Given the description of an element on the screen output the (x, y) to click on. 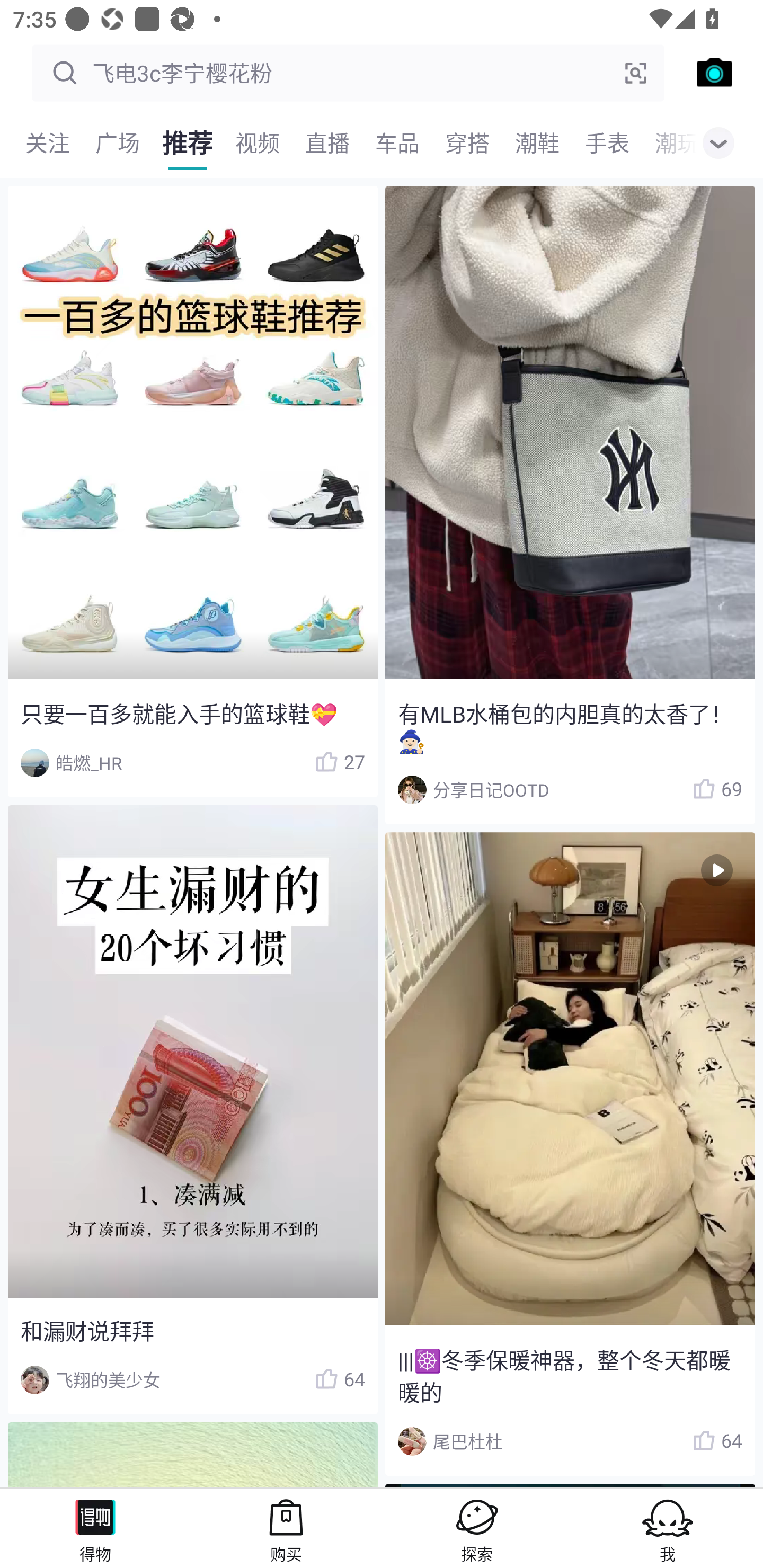
飞电3c李宁樱花粉 (348, 72)
关注 (47, 143)
广场 (117, 143)
推荐 (187, 143)
视频 (257, 143)
直播 (327, 143)
车品 (397, 143)
穿搭 (467, 143)
潮鞋 (537, 143)
手表 (607, 143)
只要一百多就能入手的篮球鞋💝 皓燃_HR 27 (192, 491)
有MLB水桶包的内胆真的太香了！🧙🏻‍♀️ 分享日记OOTD 69 (570, 505)
和漏财说拜拜 飞翔的美少女 64 (192, 1109)
|||☸️冬季保暖神器，整个冬天都暖暖的 尾巴杜杜 64 (570, 1153)
得物 (95, 1528)
购买 (285, 1528)
探索 (476, 1528)
我 (667, 1528)
